Given the description of an element on the screen output the (x, y) to click on. 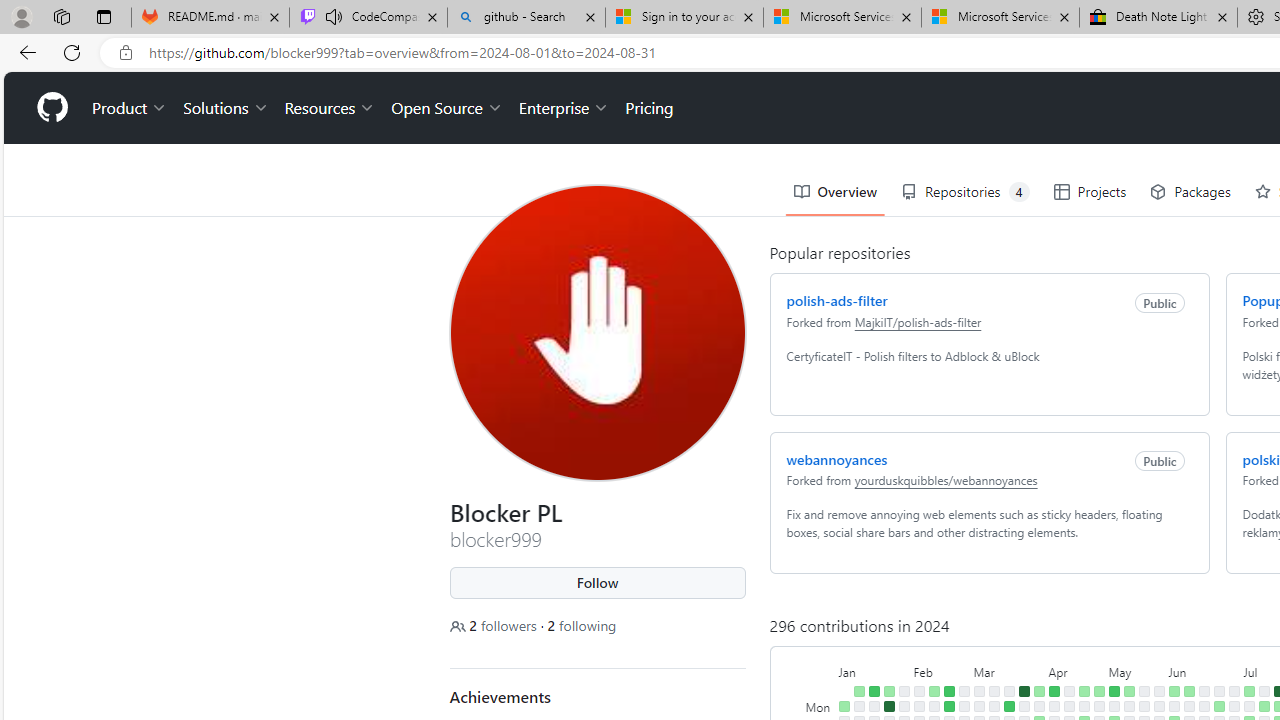
Monday (819, 706)
No contributions on April 1st. (1038, 706)
No contributions on April 29th. (1098, 706)
5 contributions on February 18th. (948, 691)
Mute tab (333, 16)
January (874, 670)
No contributions on January 28th. (904, 691)
May (1136, 670)
No contributions on February 5th. (918, 706)
No contributions on January 15th. (873, 706)
Day of Week (819, 670)
5 contributions on February 19th. (948, 706)
